Given the description of an element on the screen output the (x, y) to click on. 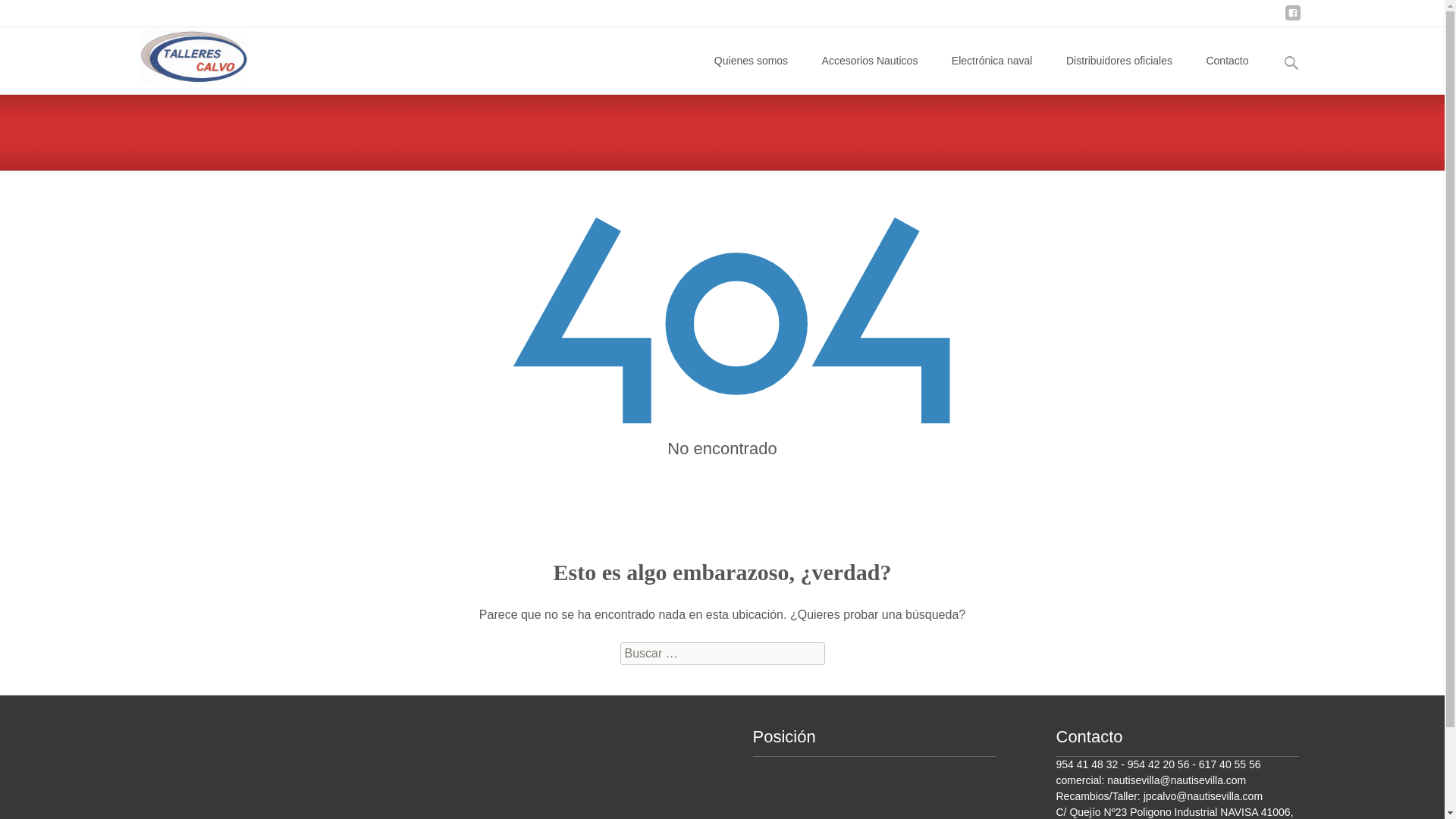
Quienes somos (750, 60)
Talleres Calvo (181, 57)
facebook (1292, 18)
Buscar (18, 15)
Distribuidores oficiales (1118, 60)
Buscar (37, 15)
Accesorios Nauticos (870, 60)
